Given the description of an element on the screen output the (x, y) to click on. 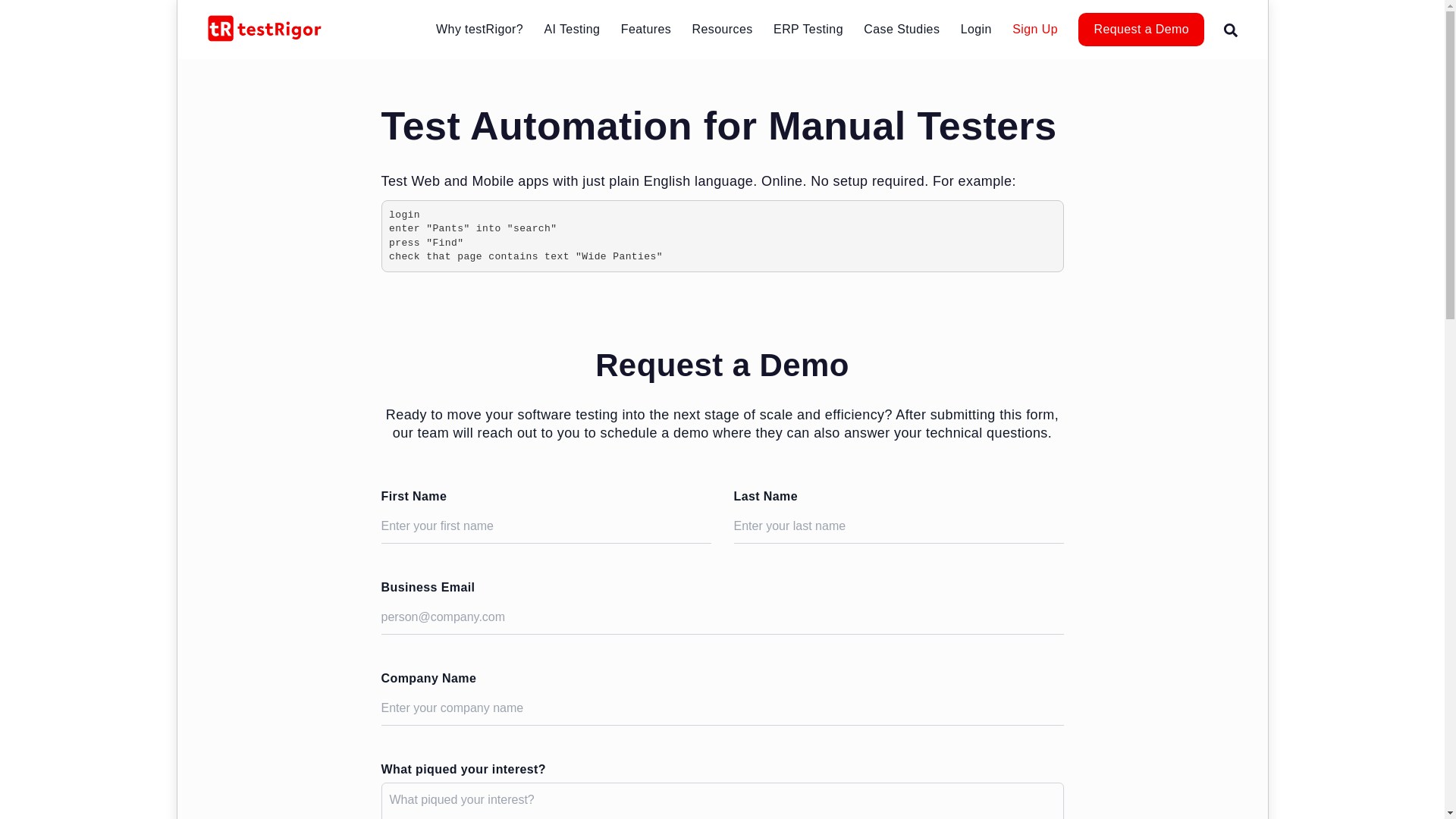
Search entire website (1230, 29)
Why testRigor? (478, 29)
Top Features (699, 63)
Resources (722, 29)
Features (646, 29)
Documentation (770, 63)
Acumatica Testing (851, 63)
ERP Testing (808, 29)
AI In Software Testing (621, 63)
AI Testing (571, 29)
